Given the description of an element on the screen output the (x, y) to click on. 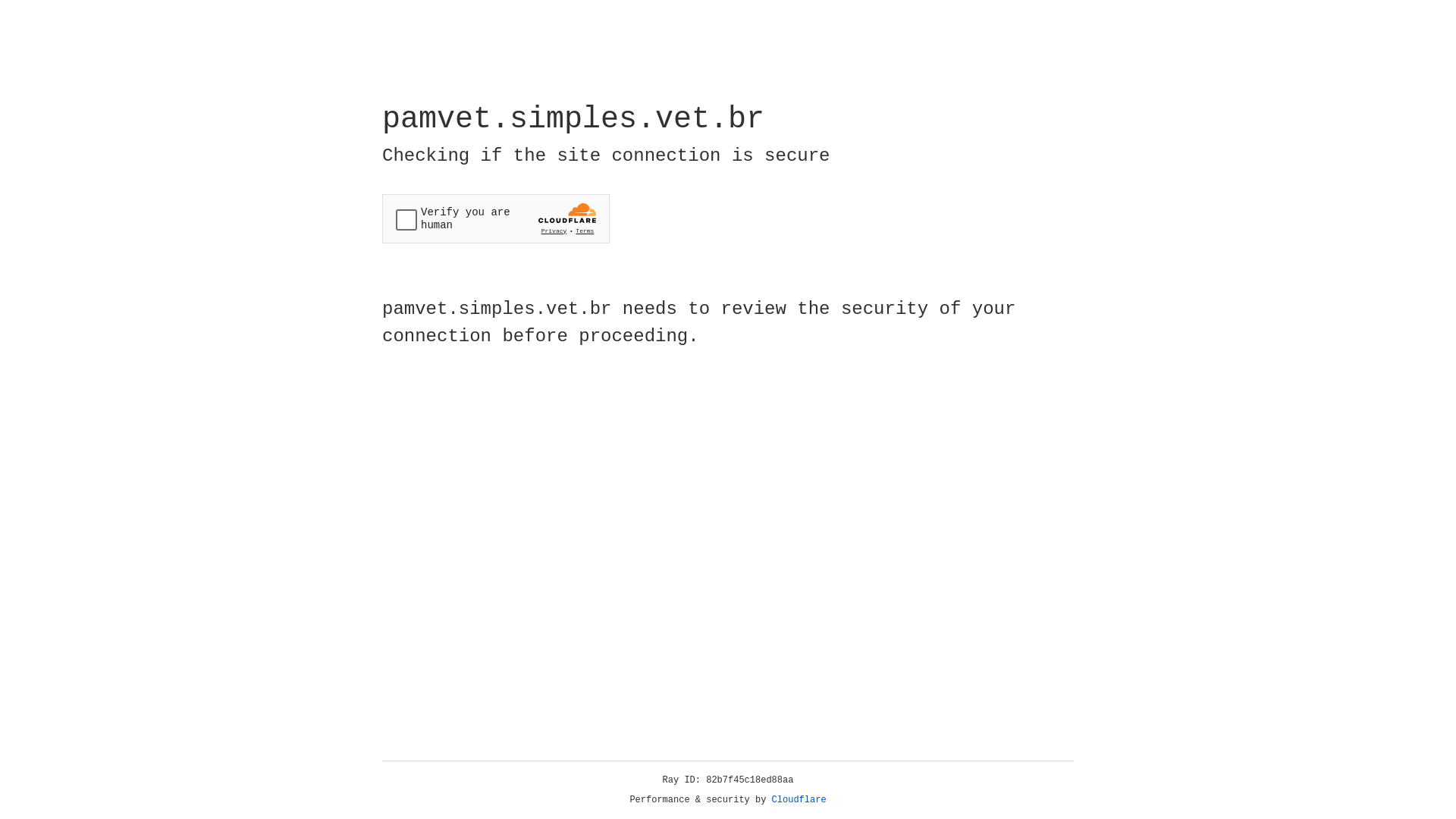
Cloudflare Element type: text (798, 799)
Widget containing a Cloudflare security challenge Element type: hover (495, 218)
